Given the description of an element on the screen output the (x, y) to click on. 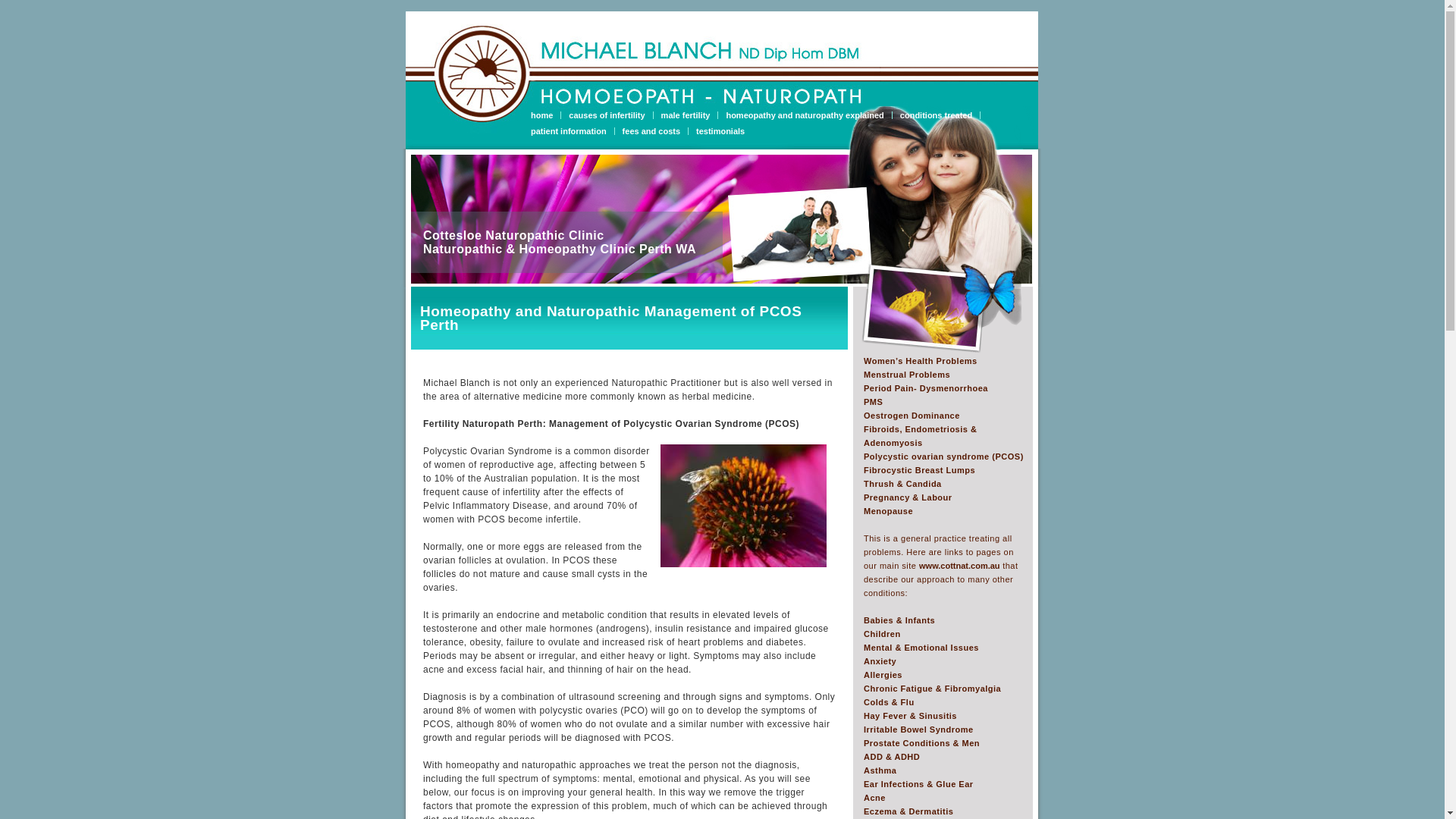
patient information Element type: text (572, 130)
www.cottnat.com.au Element type: text (959, 565)
causes of infertility Element type: text (610, 115)
Mental & Emotional Issues Element type: text (921, 647)
fees and costs Element type: text (655, 130)
Irritable Bowel Syndrome Element type: text (918, 729)
Acne Element type: text (874, 797)
PMS Element type: text (872, 401)
Babies & Infants Element type: text (899, 619)
testimonials Element type: text (720, 130)
homeopathy and naturopathy explained Element type: text (808, 115)
Fibroids, Endometriosis & Adenomyosis Element type: text (919, 435)
Eczema & Dermatitis Element type: text (908, 810)
Menstrual Problems Element type: text (906, 374)
Thrush & Candida Element type: text (902, 483)
Prostate Conditions & Men Element type: text (921, 742)
male fertility Element type: text (689, 115)
Hay Fever & Sinusitis Element type: text (910, 715)
conditions treated Element type: text (940, 115)
Period Pain- Dysmenorrhoea Element type: text (925, 387)
Allergies Element type: text (882, 674)
Pregnancy & Labour Element type: text (907, 497)
Oestrogen Dominance Element type: text (911, 415)
Colds & Flu Element type: text (888, 701)
Chronic Fatigue & Fibromyalgia Element type: text (932, 688)
Polycystic ovarian syndrome (PCOS) Element type: text (943, 456)
home Element type: text (545, 115)
Anxiety Element type: text (879, 660)
Children Element type: text (881, 633)
Menopause Element type: text (888, 510)
Asthma Element type: text (879, 770)
Ear Infections & Glue Ear Element type: text (918, 783)
ADD & ADHD Element type: text (891, 756)
Fibrocystic Breast Lumps Element type: text (919, 469)
